Given the description of an element on the screen output the (x, y) to click on. 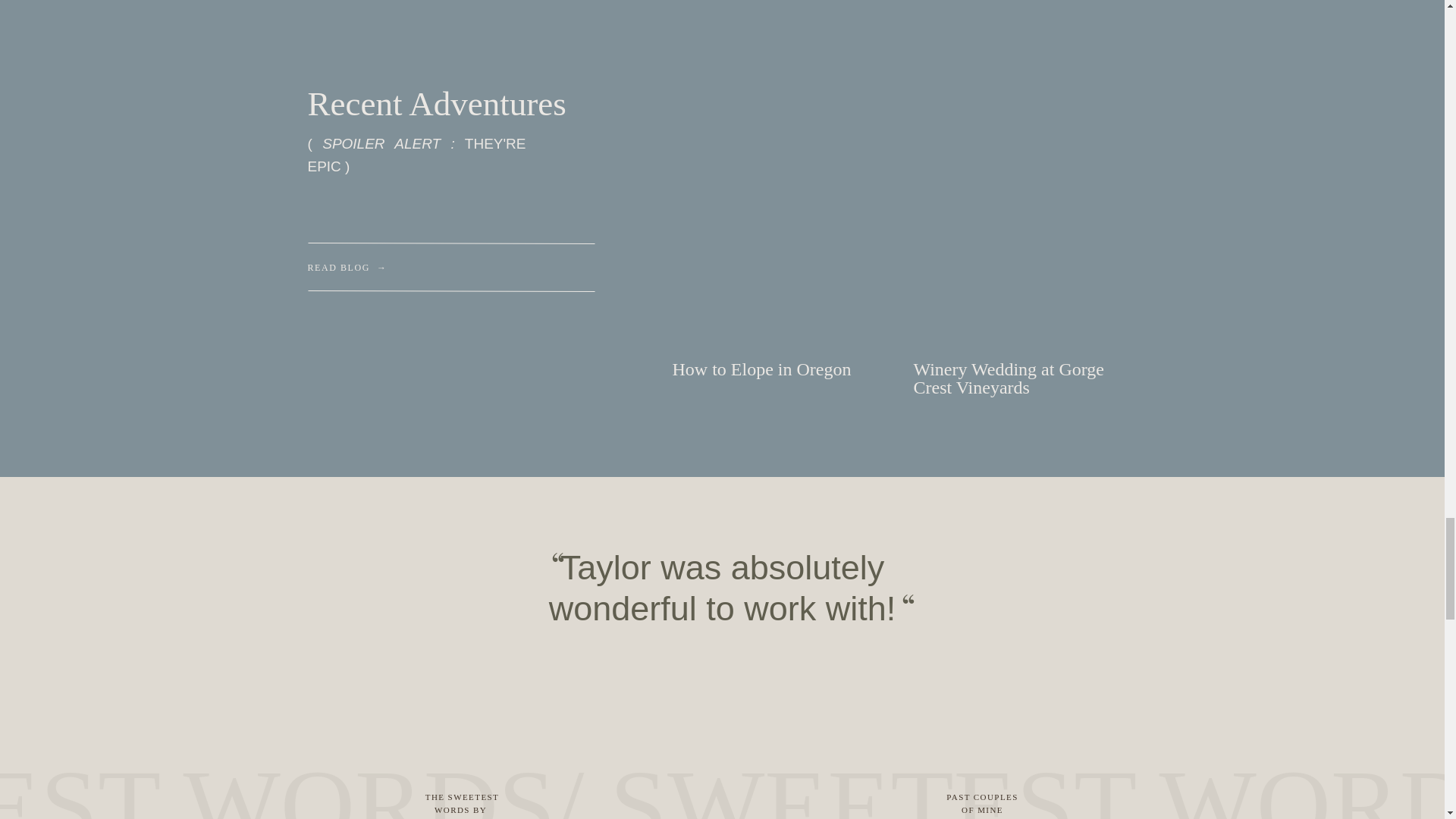
How to Elope in Oregon (783, 379)
Winery Wedding at Gorge Crest Vineyards (1024, 379)
